Given the description of an element on the screen output the (x, y) to click on. 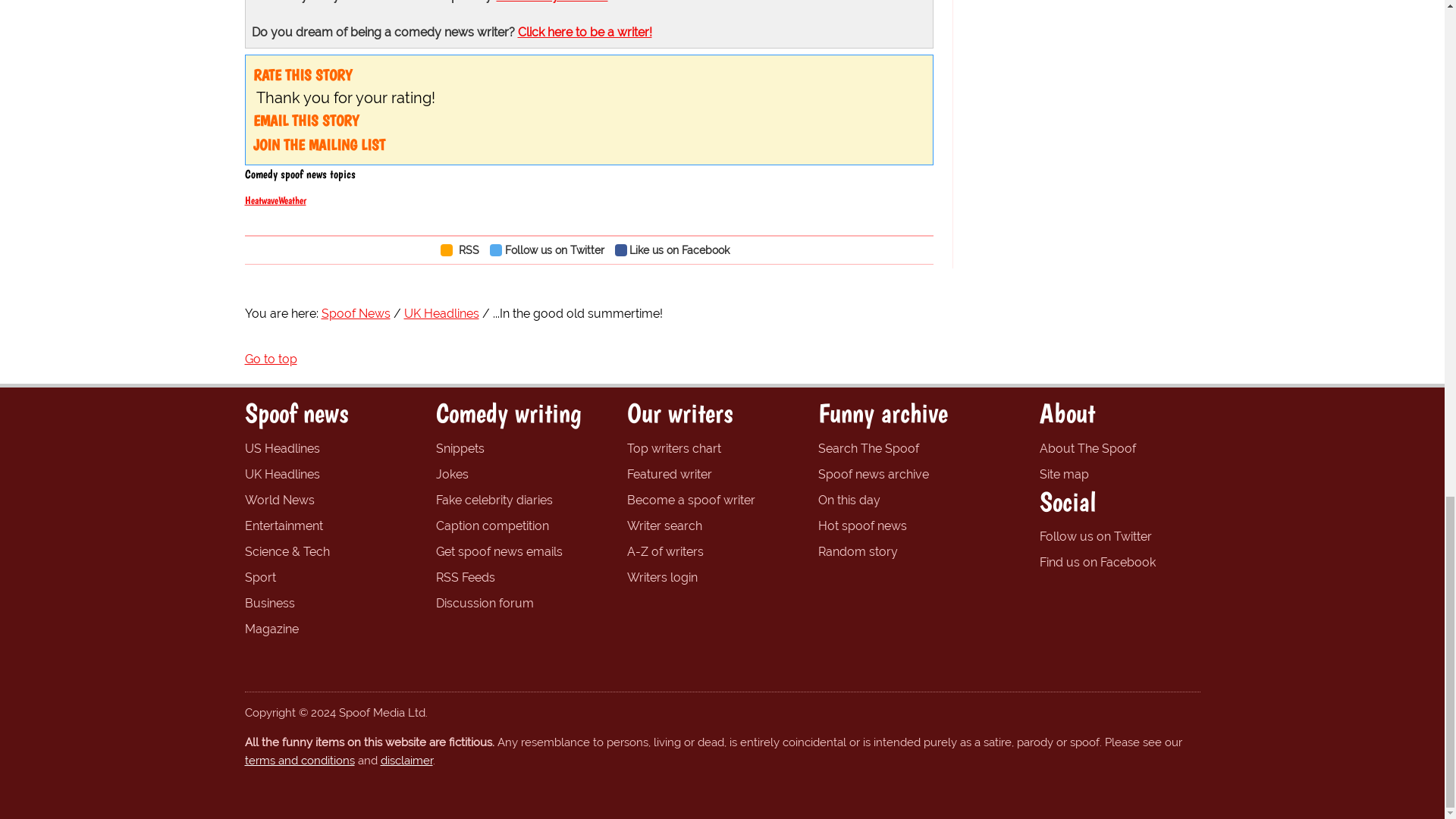
JOIN THE MAILING LIST (319, 144)
RSS (463, 249)
Spoof News (355, 313)
Weather (291, 200)
Follow us on Twitter (550, 249)
Spoof News US Headlines (281, 448)
Heatwave (261, 200)
Like us on Facebook (676, 249)
It is entirely fictitious (551, 1)
Click here to be a writer! (583, 32)
UK Headlines (441, 313)
View RSS Feed (463, 249)
EMAIL THIS STORY (305, 120)
Go to top (270, 359)
